Given the description of an element on the screen output the (x, y) to click on. 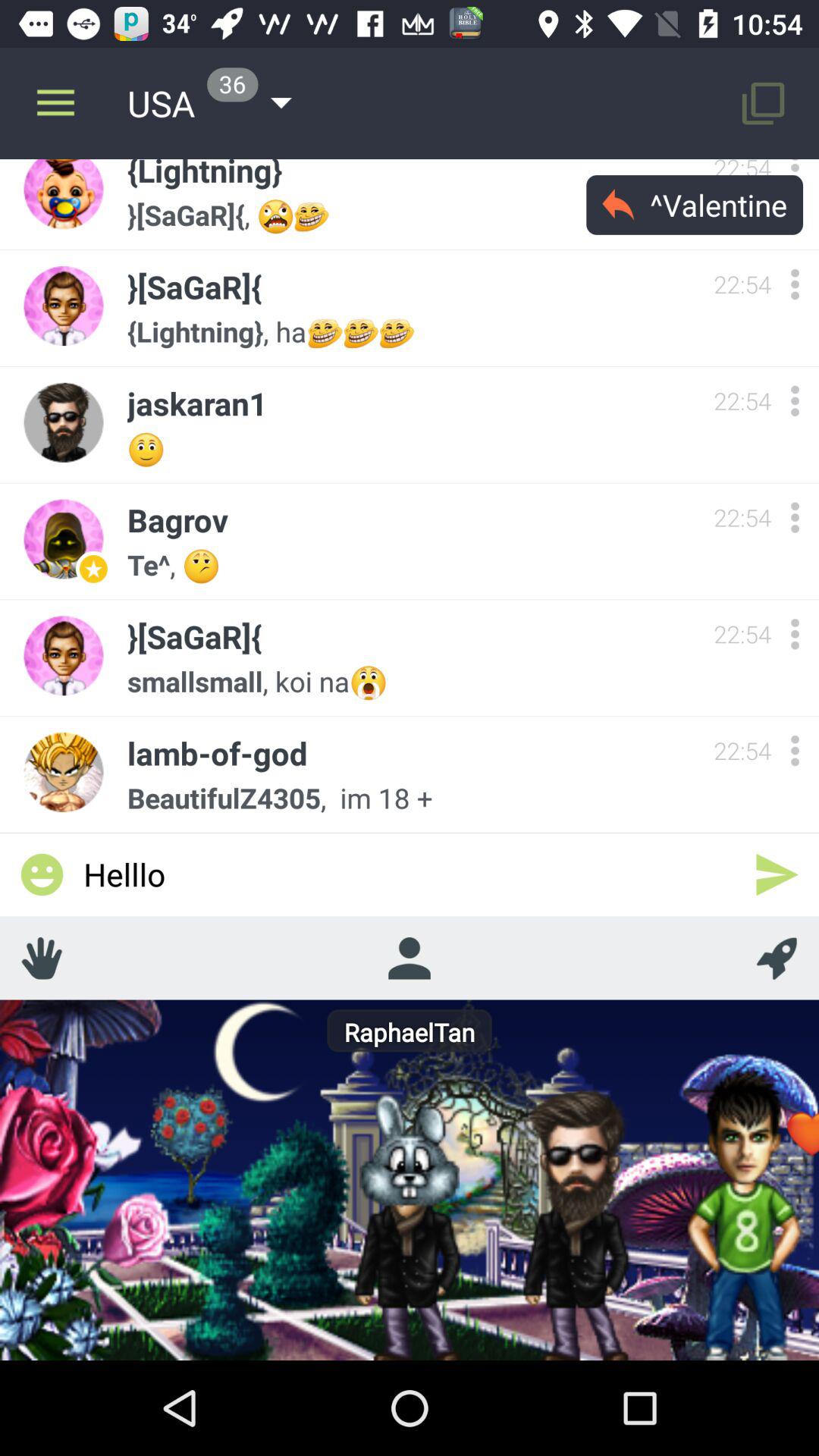
show options (795, 517)
